Given the description of an element on the screen output the (x, y) to click on. 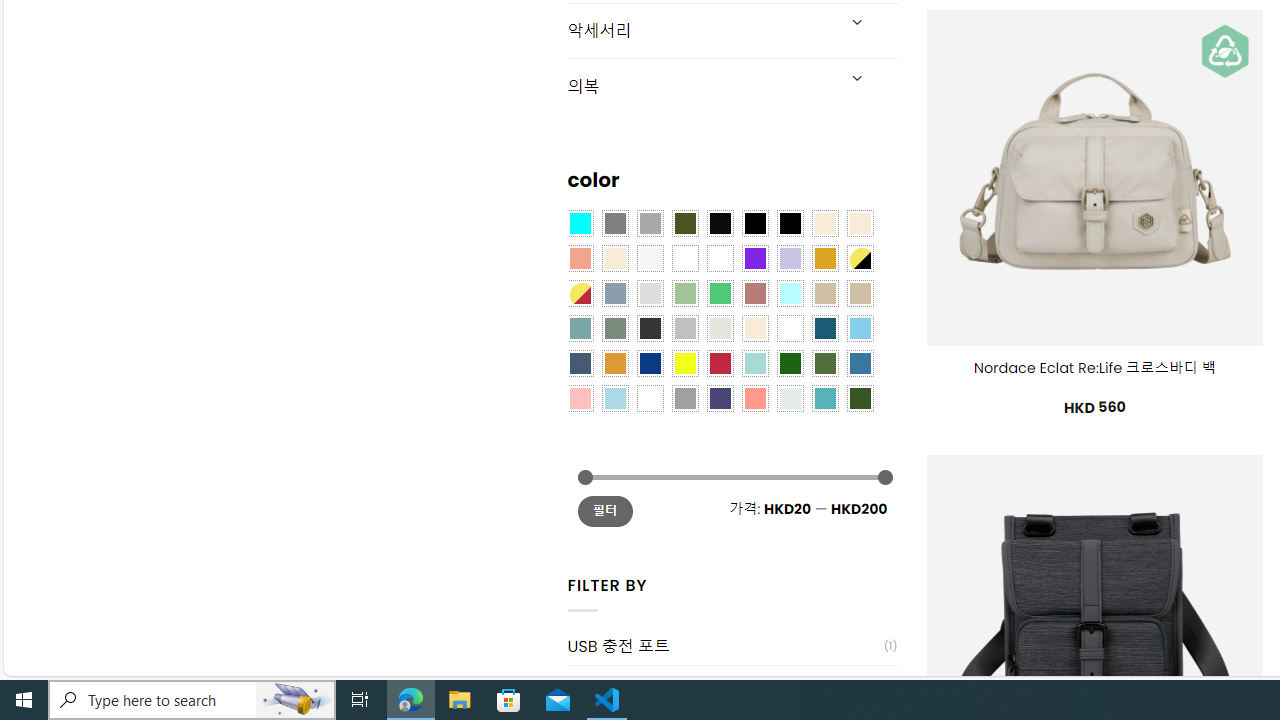
Coral (579, 257)
Cream (614, 257)
